Given the description of an element on the screen output the (x, y) to click on. 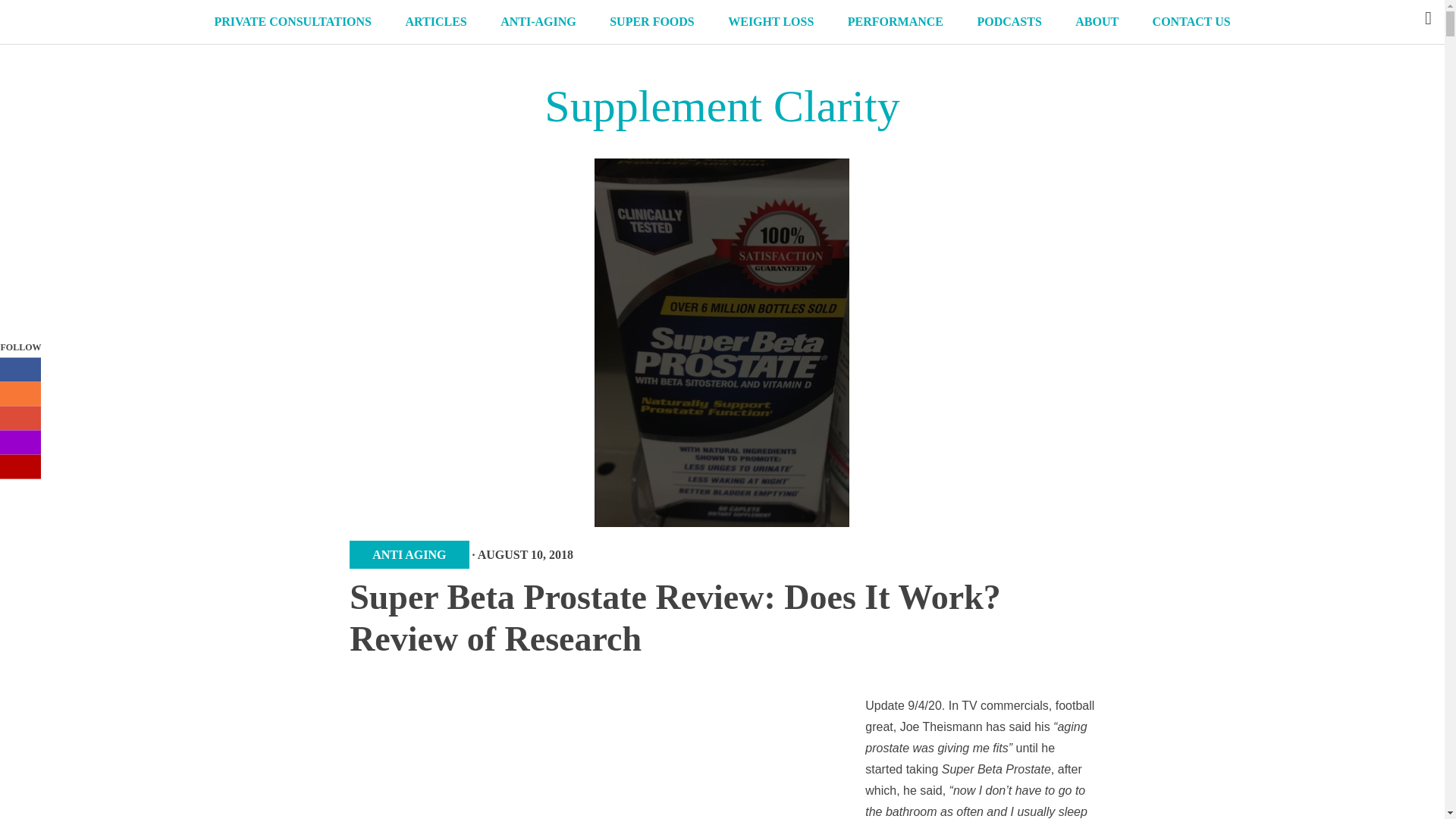
WEIGHT LOSS (770, 22)
Supplement Clarity (721, 106)
CONTACT US (1191, 22)
PRIVATE CONSULTATIONS (292, 22)
Search (13, 10)
ARTICLES (435, 22)
ANTI-AGING (537, 22)
ANTI AGING (408, 554)
Advertisement (734, 759)
ABOUT (1096, 22)
